Given the description of an element on the screen output the (x, y) to click on. 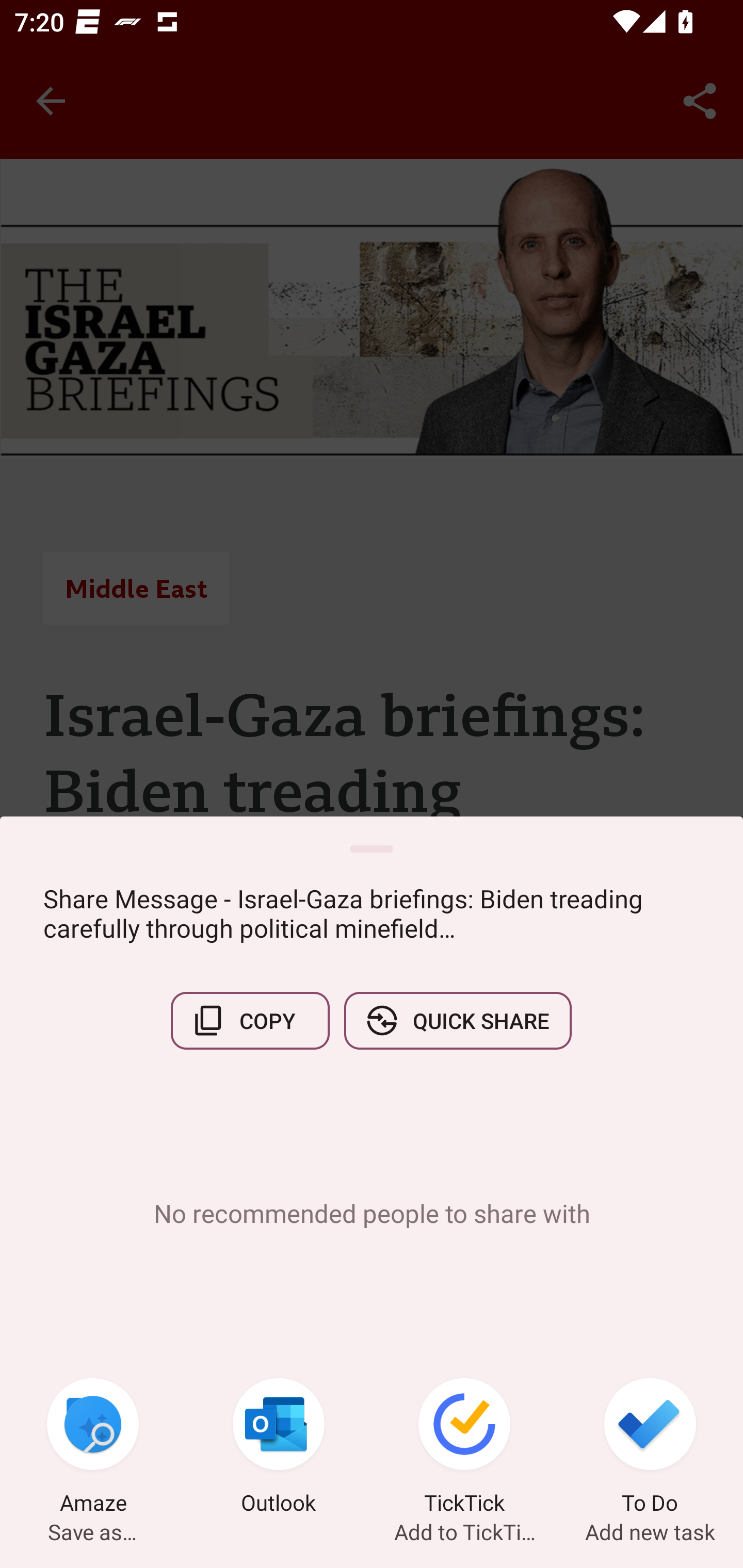
COPY (249, 1020)
QUICK SHARE (457, 1020)
Amaze Save as… (92, 1448)
Outlook (278, 1448)
TickTick Add to TickTick (464, 1448)
To Do Add new task (650, 1448)
